Given the description of an element on the screen output the (x, y) to click on. 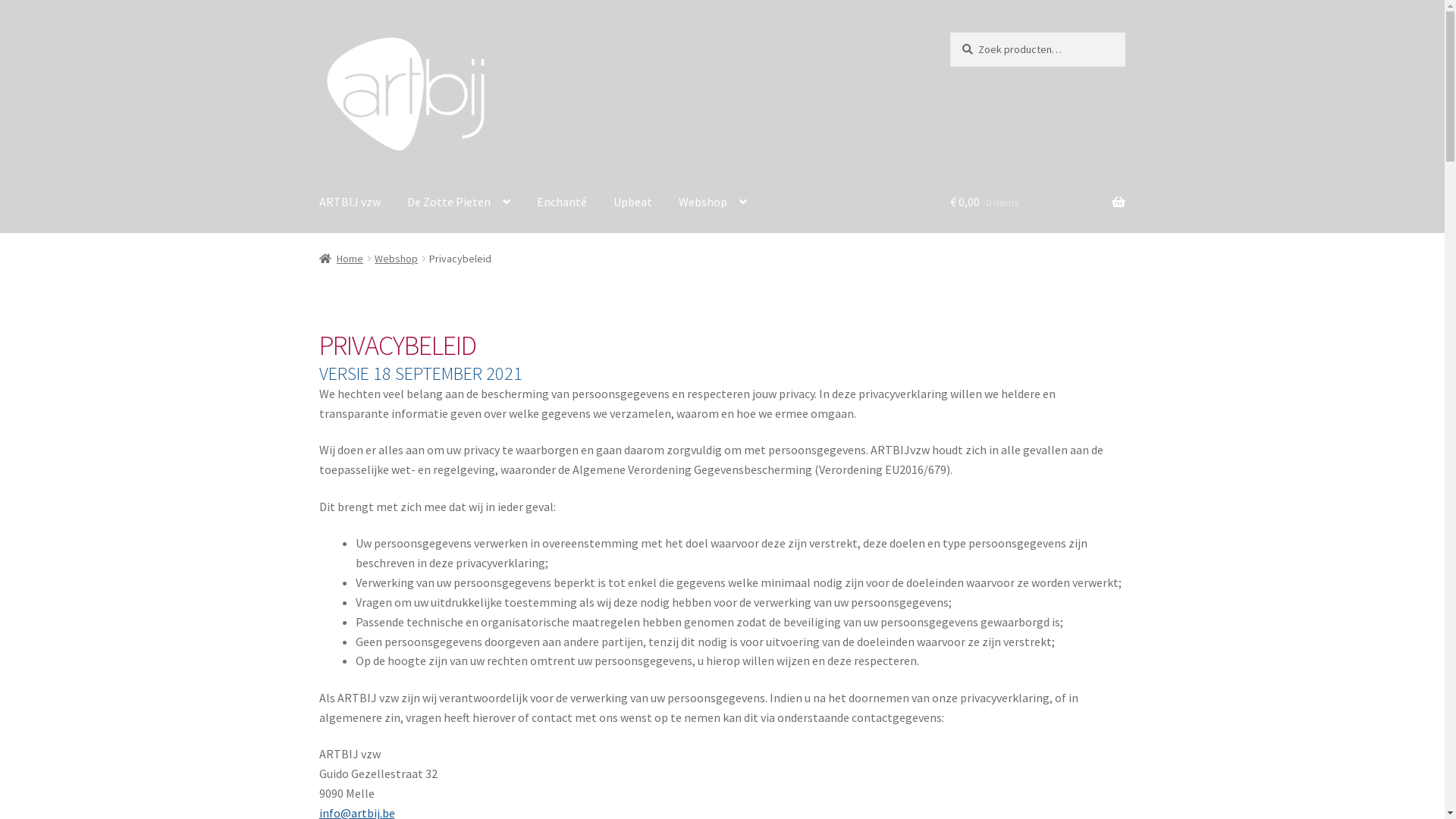
Webshop Element type: text (712, 202)
Zoeken Element type: text (949, 31)
De Zotte Pieten Element type: text (458, 202)
Upbeat Element type: text (632, 202)
ARTBIJ vzw Element type: text (349, 202)
Home Element type: text (341, 258)
Webshop Element type: text (395, 258)
Skip to navigation Element type: text (318, 31)
